Given the description of an element on the screen output the (x, y) to click on. 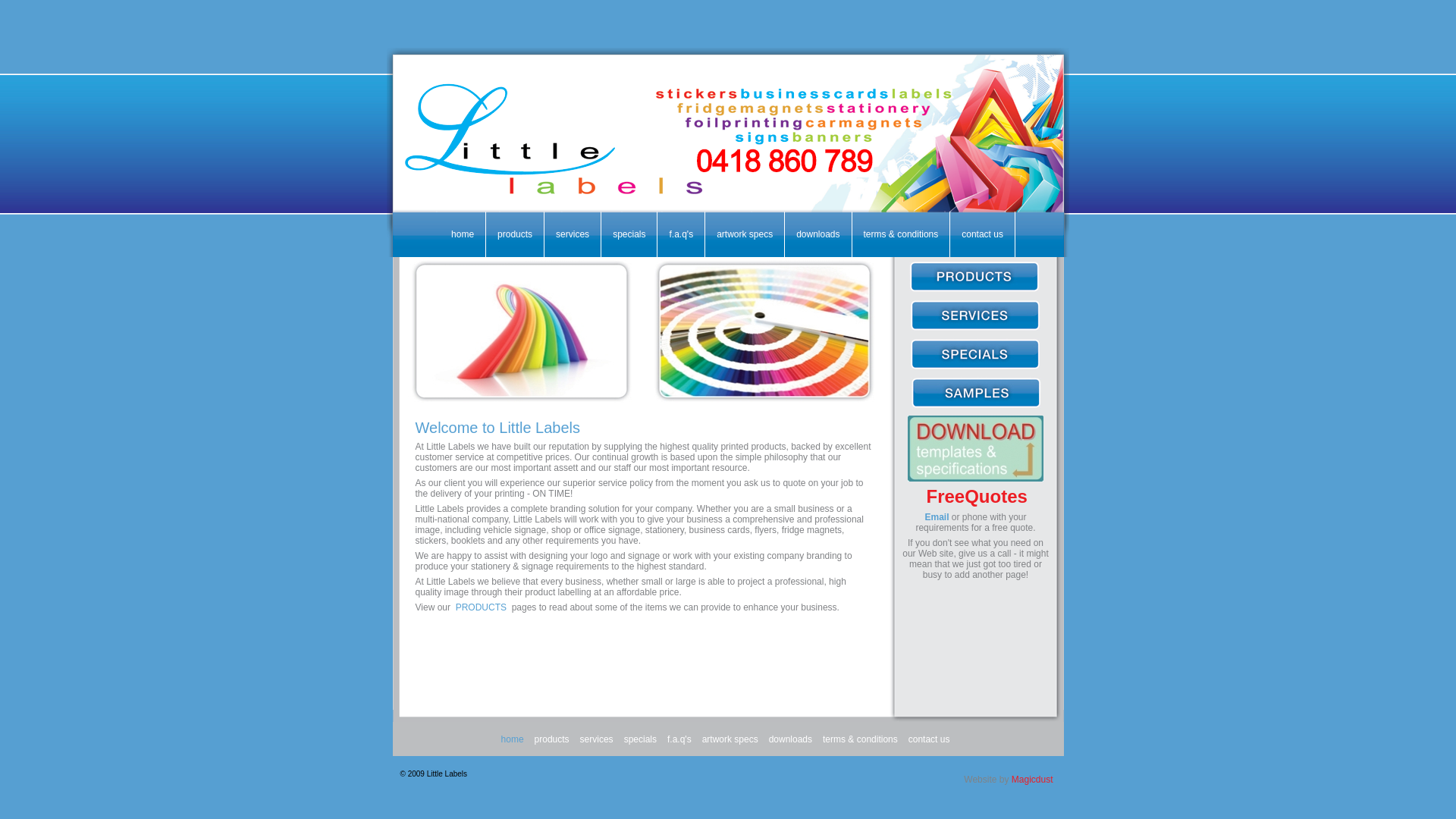
products Element type: text (514, 234)
downloads Element type: text (790, 739)
specials Element type: text (628, 234)
contact us Element type: text (982, 234)
services Element type: text (596, 739)
   Element type: text (903, 328)
f.a.q's Element type: text (680, 234)
home Element type: text (512, 739)
terms & conditions Element type: text (859, 739)
contact us Element type: text (929, 739)
terms & conditions Element type: text (900, 234)
   Element type: text (972, 328)
       Element type: text (973, 405)
Magicdust Element type: text (1032, 779)
Email Element type: text (936, 516)
PRODUCTS Element type: text (480, 607)
downloads Element type: text (817, 234)
specials Element type: text (640, 739)
home Element type: text (462, 234)
services Element type: text (572, 234)
products Element type: text (551, 739)
f.a.q's Element type: text (679, 739)
artwork specs Element type: text (744, 234)
         Element type: text (975, 366)
artwork specs Element type: text (730, 739)
   Element type: text (969, 286)
